Given the description of an element on the screen output the (x, y) to click on. 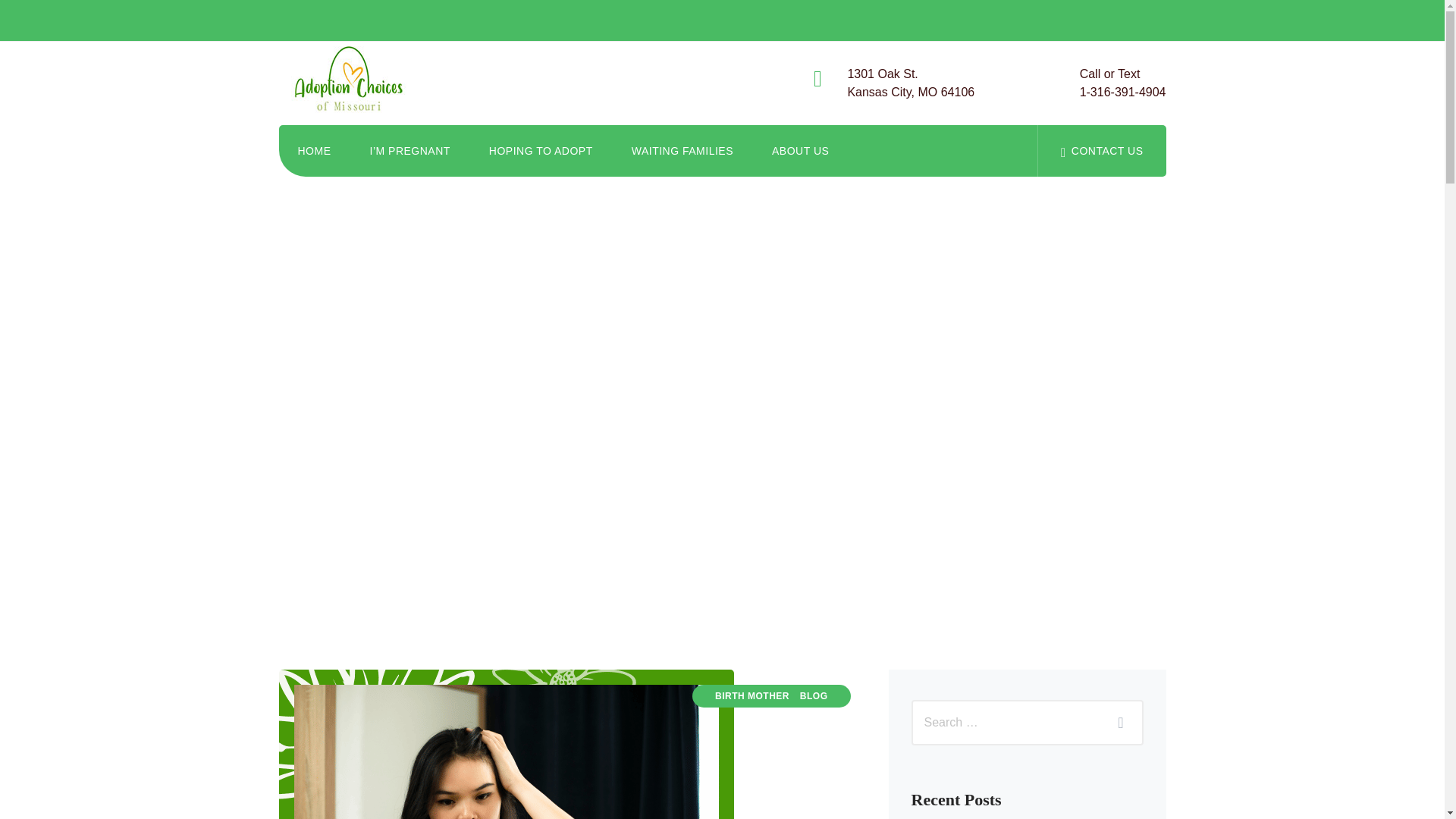
HOPING TO ADOPT (1123, 83)
BLOG (540, 150)
WAITING FAMILIES (813, 696)
CONTACT US (682, 150)
ABOUT US (1101, 150)
HOME (799, 150)
Adoption Choices of Missouri (314, 150)
BIRTH MOTHER (355, 82)
